Given the description of an element on the screen output the (x, y) to click on. 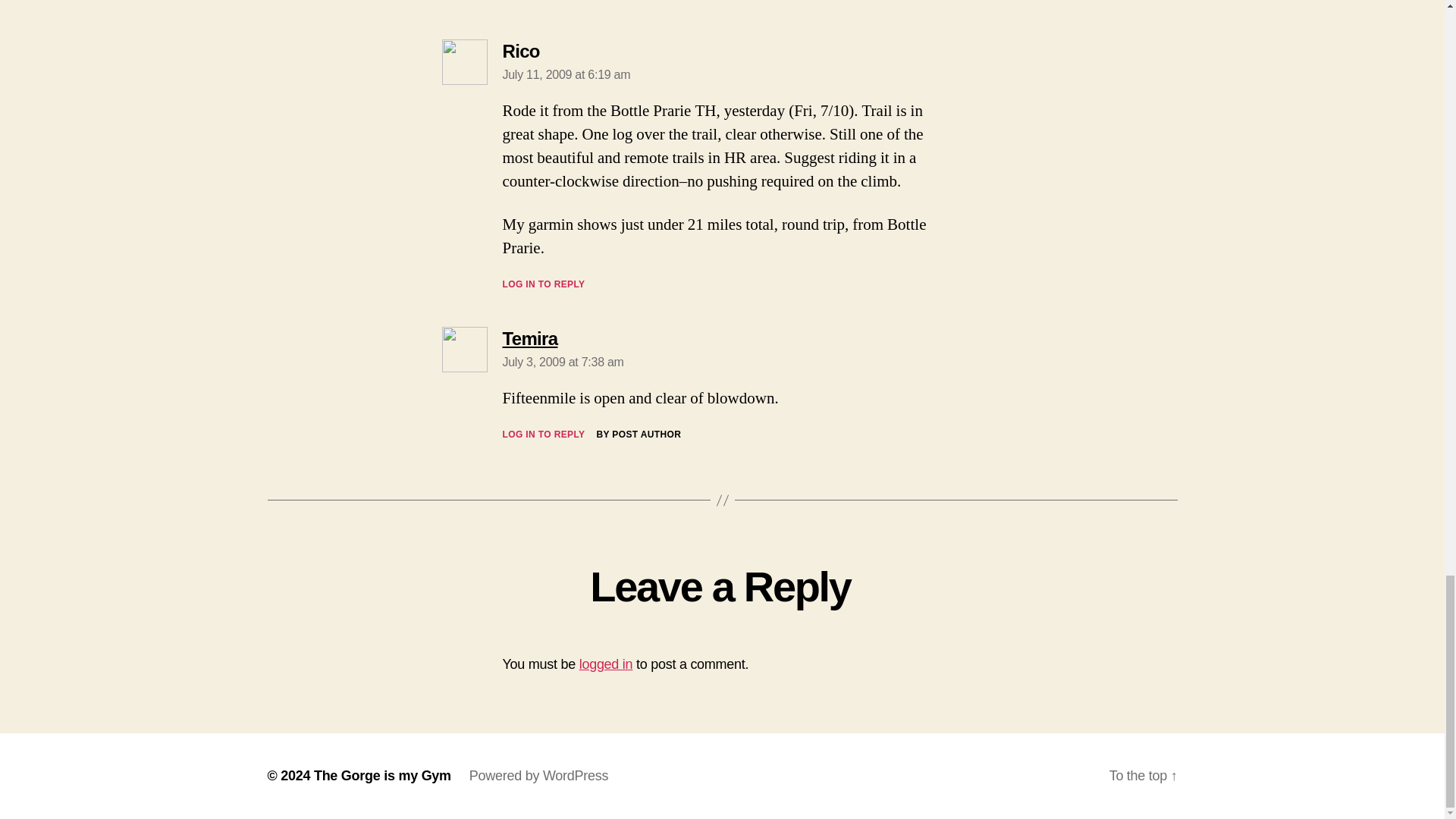
LOG IN TO REPLY (543, 1)
LOG IN TO REPLY (543, 284)
LOG IN TO REPLY (543, 434)
Powered by WordPress (538, 775)
logged in (529, 338)
The Gorge is my Gym (606, 663)
July 3, 2009 at 7:38 am (382, 775)
July 11, 2009 at 6:19 am (562, 361)
